Given the description of an element on the screen output the (x, y) to click on. 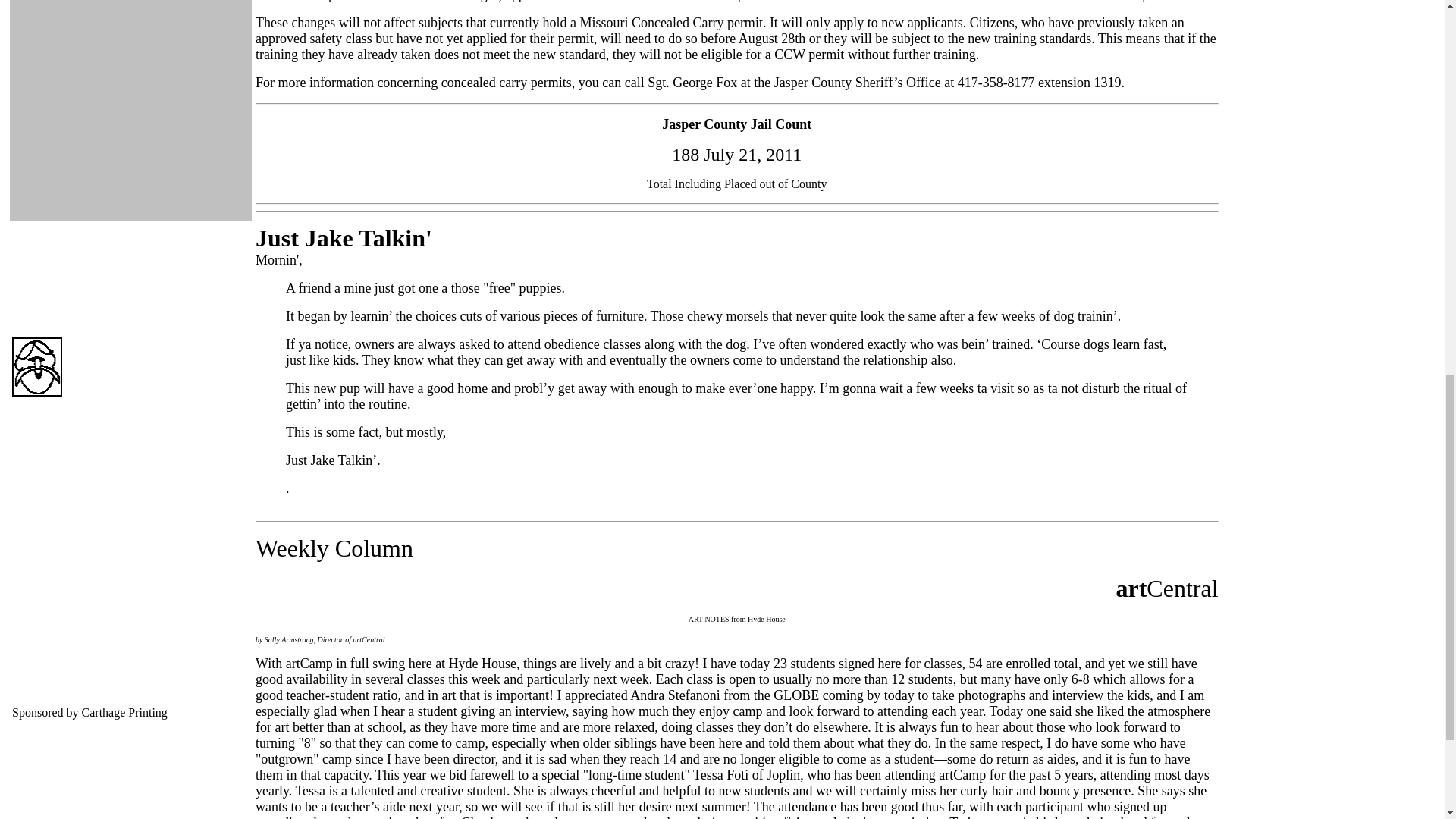
ke Talkin (377, 241)
Weekly C (303, 552)
